Given the description of an element on the screen output the (x, y) to click on. 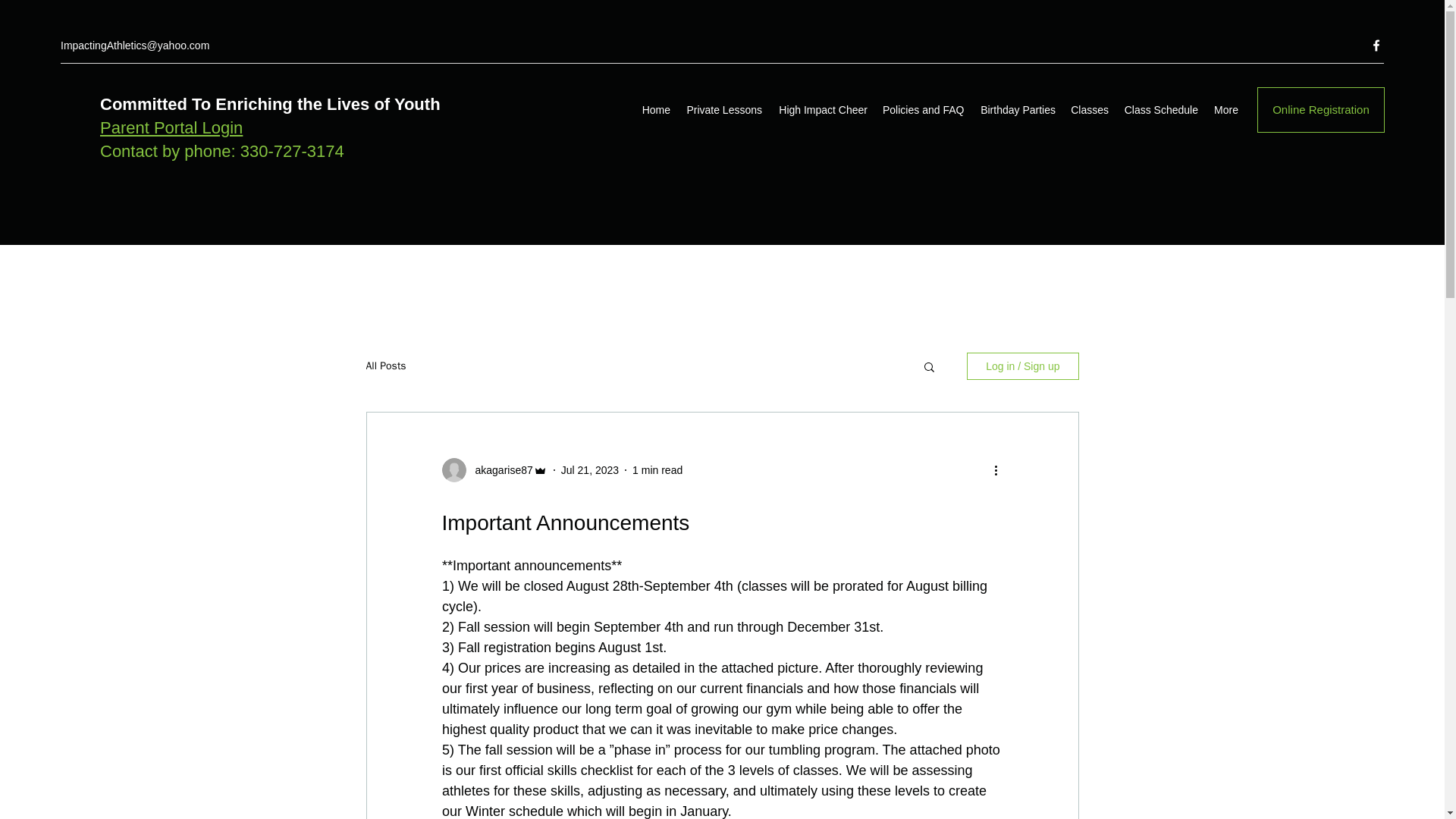
Birthday Parties (1016, 109)
Classes (1089, 109)
Contact by phone: 330-727-3174 (221, 150)
All Posts (385, 366)
High Impact Cheer (822, 109)
Policies and FAQ (923, 109)
Jul 21, 2023 (589, 469)
akagarise87 (498, 470)
 To Enriching the Lives of Youth (314, 104)
Parent Portal Login (171, 127)
